Given the description of an element on the screen output the (x, y) to click on. 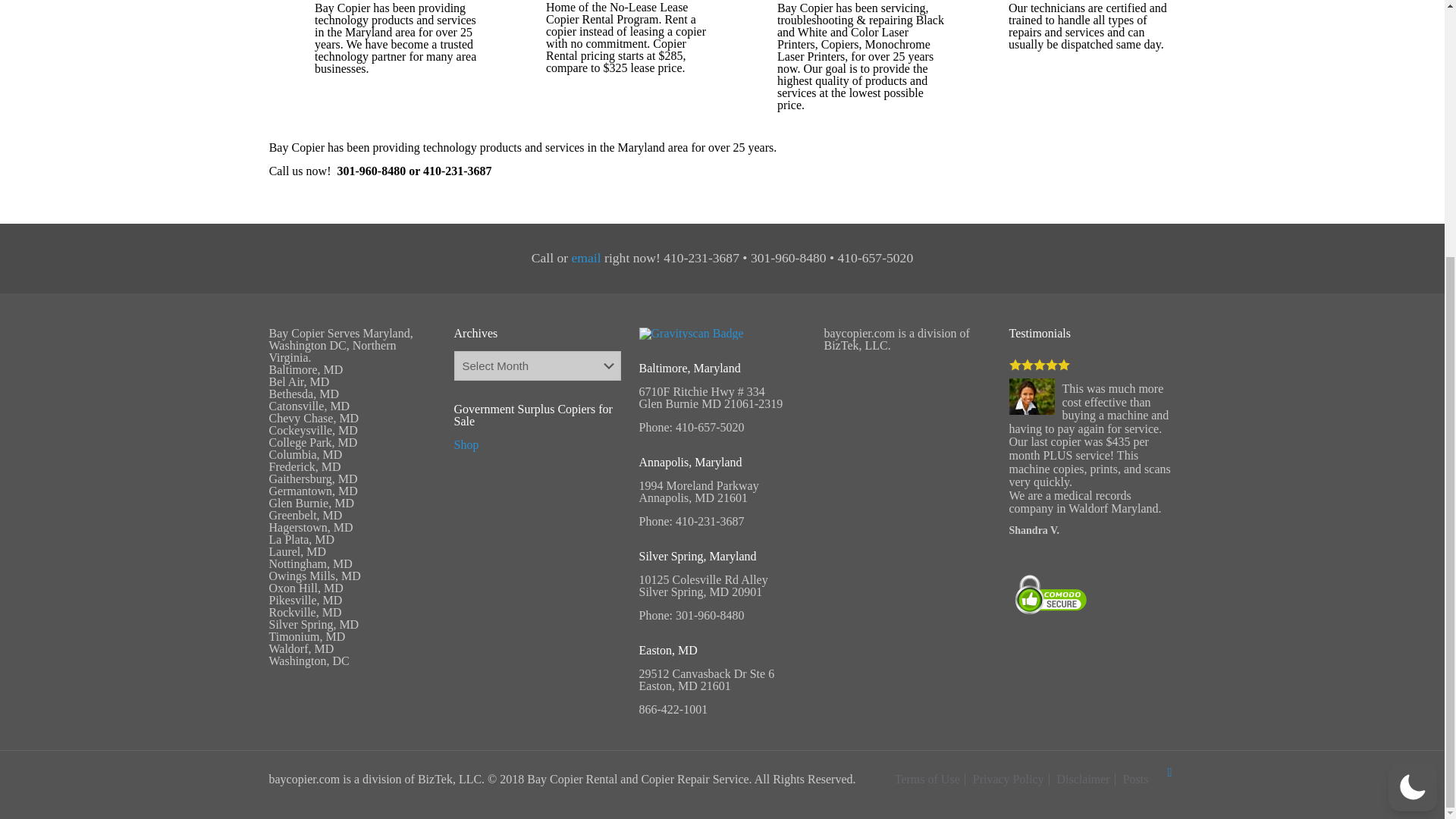
Shop (465, 444)
email (586, 257)
